Given the description of an element on the screen output the (x, y) to click on. 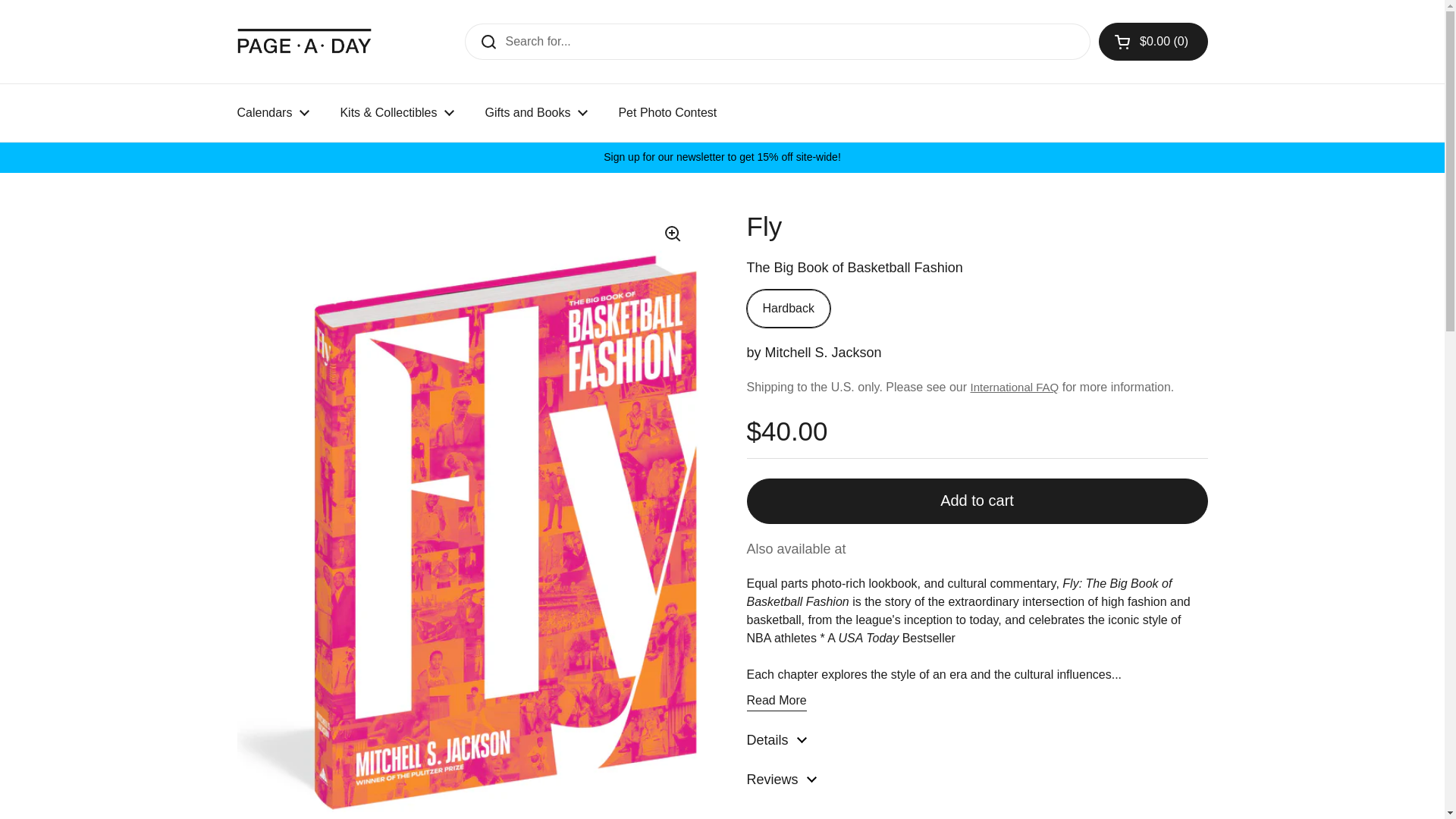
Calendars (272, 112)
Open cart (1153, 41)
Gifts and Books (535, 112)
Page-A-Day (303, 41)
